Given the description of an element on the screen output the (x, y) to click on. 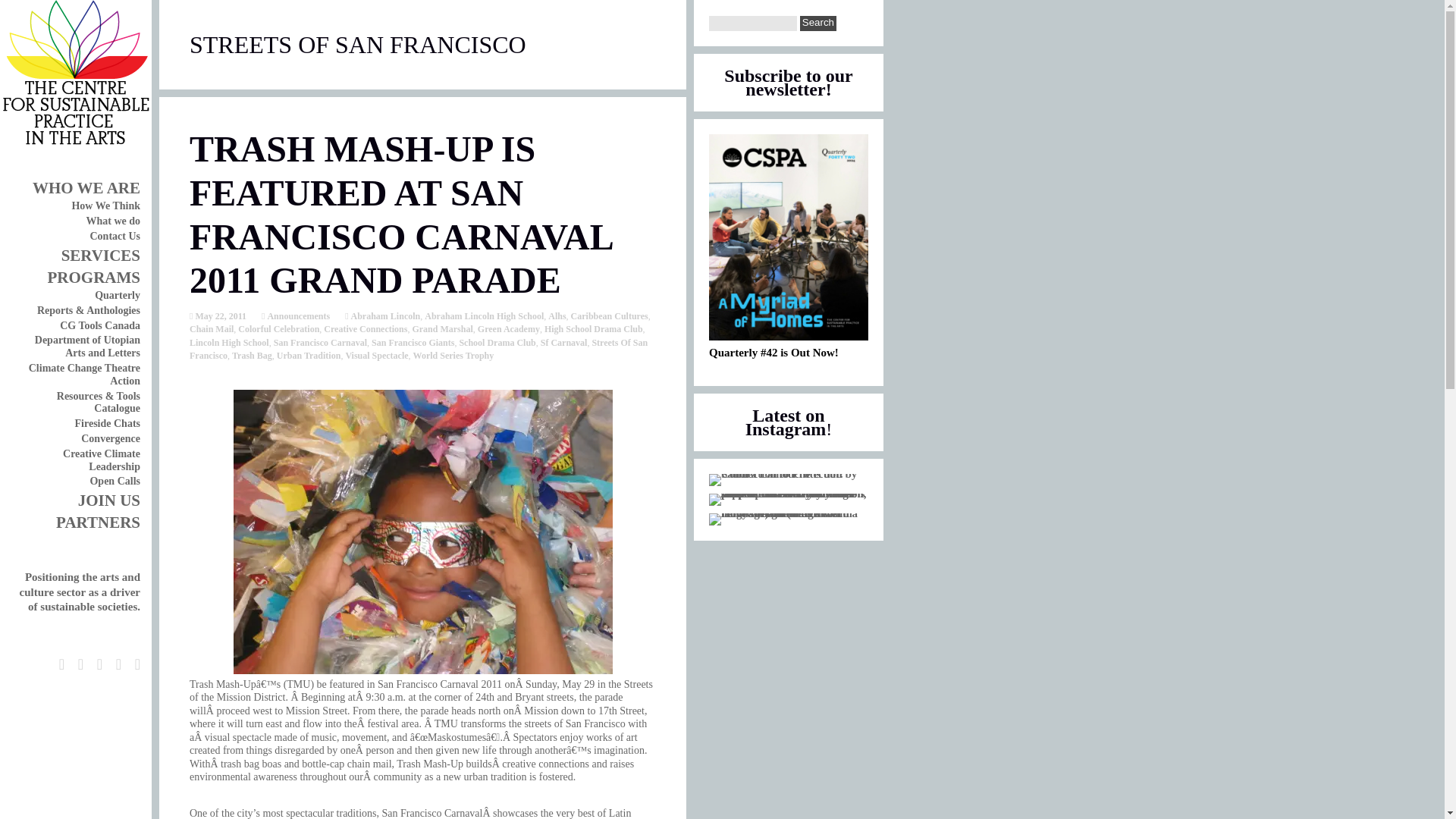
May 22, 2011 (219, 316)
Alhs (557, 316)
WHO WE ARE (85, 188)
Caribbean Cultures (608, 316)
PARTNERS (97, 522)
Contact Us (113, 235)
Fireside Chats (107, 423)
